Given the description of an element on the screen output the (x, y) to click on. 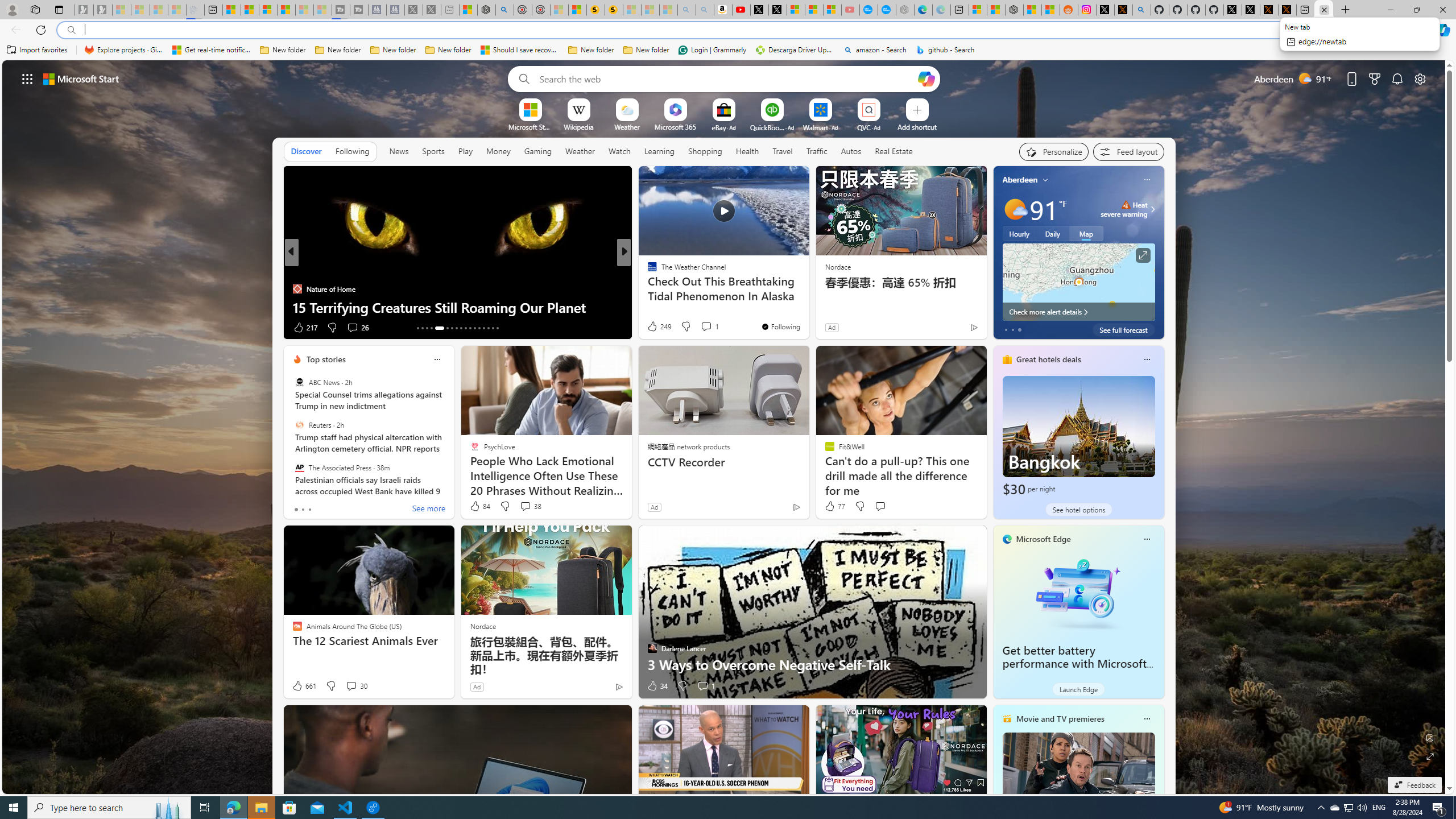
Favorites bar (728, 49)
34 Like (657, 685)
249 Like (658, 326)
Amazon Echo Dot PNG - Search Images - Sleeping (705, 9)
Import favorites (36, 49)
77 Like (834, 505)
CNBC (647, 270)
AutomationID: tab-15 (426, 328)
